Given the description of an element on the screen output the (x, y) to click on. 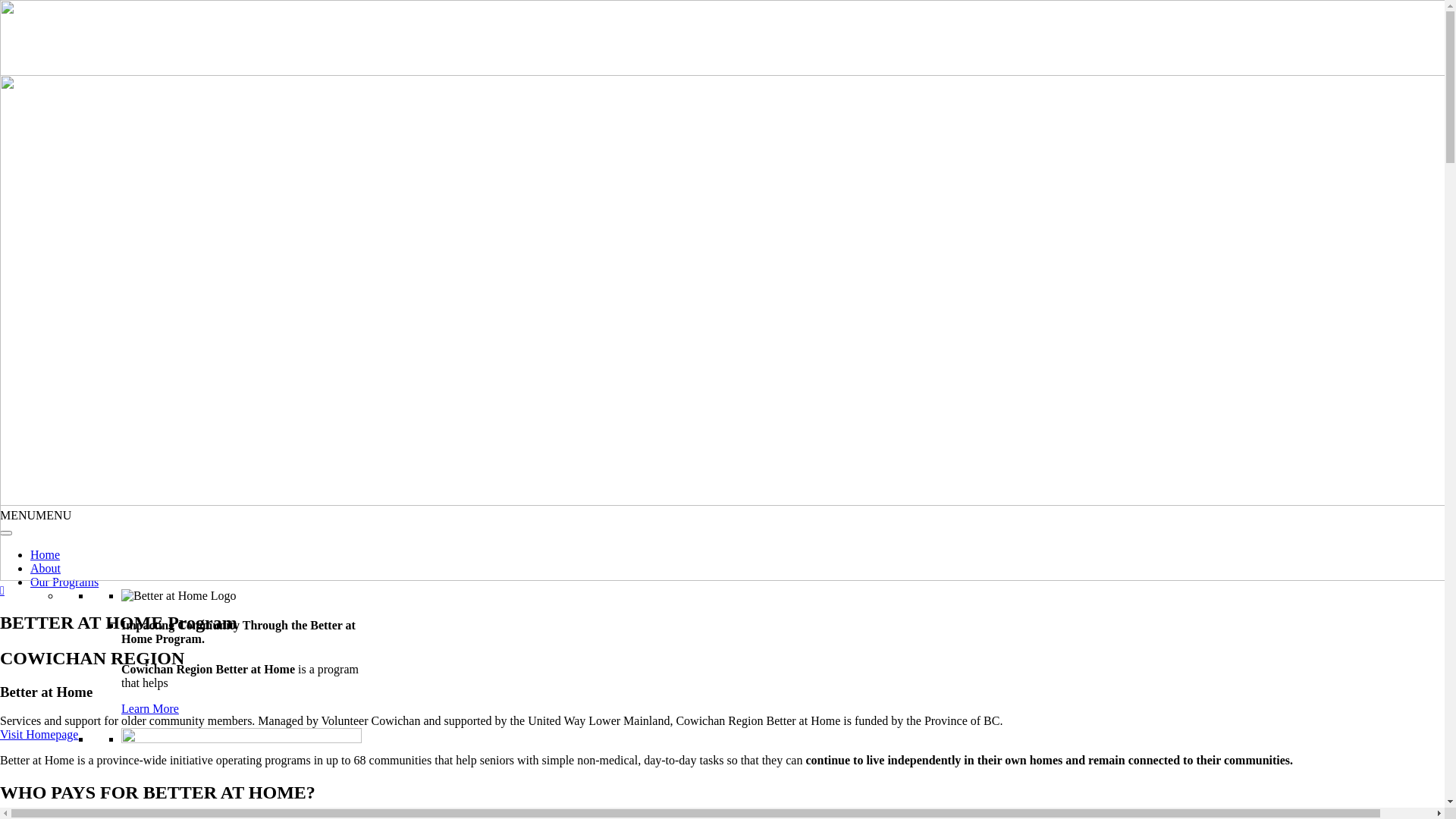
Home Element type: text (44, 554)
Visit Homepage Element type: text (39, 734)
Learn More Element type: text (149, 708)
About Element type: text (45, 567)
Our Programs Element type: text (64, 581)
